Given the description of an element on the screen output the (x, y) to click on. 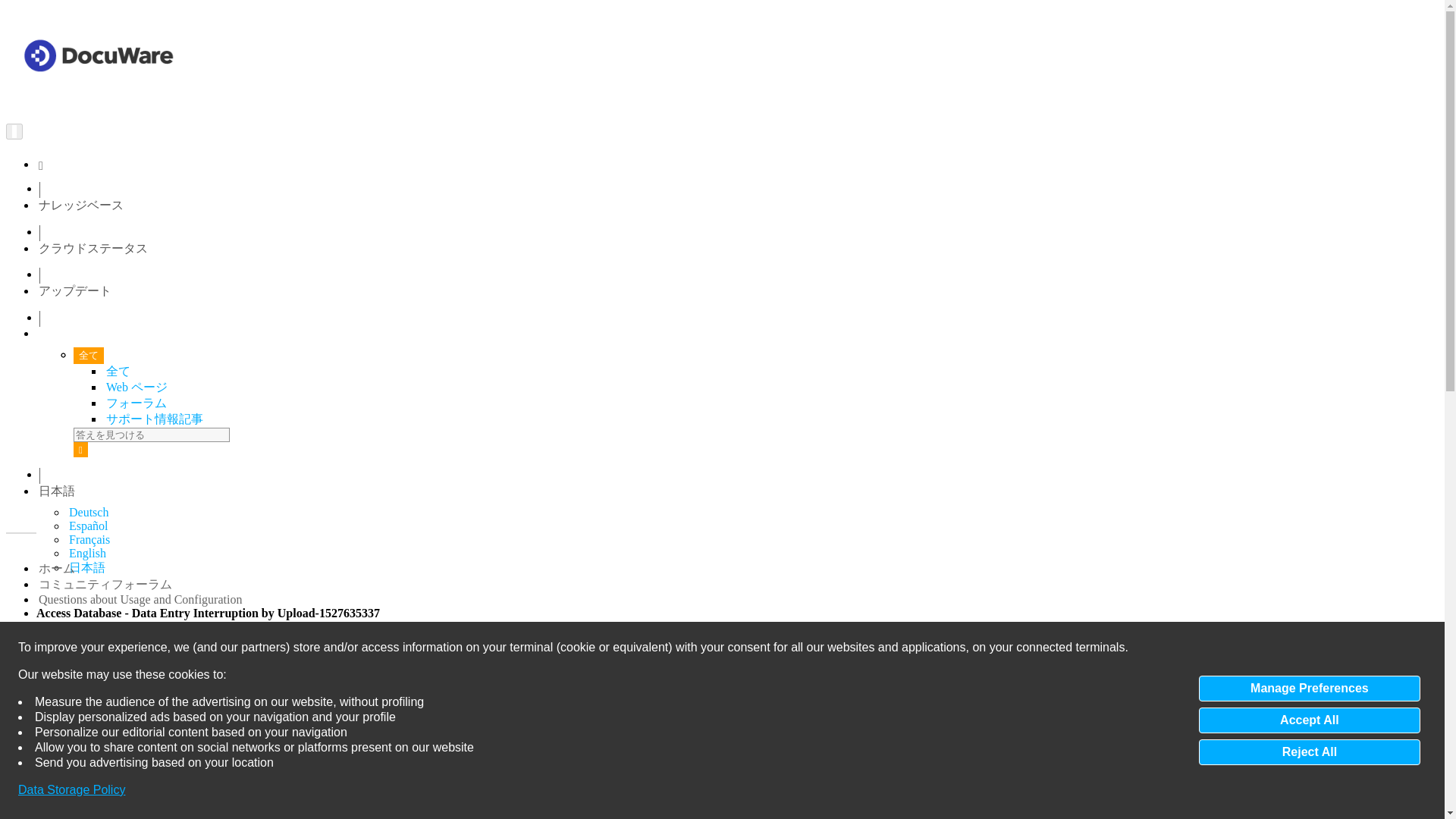
English (87, 553)
Tania Aldred (192, 686)
English (87, 553)
Manage Preferences (1309, 688)
Data Storage Policy (71, 789)
Deutsch (87, 512)
Questions about Usage and Configuration (140, 599)
Reject All (1309, 751)
Toggle navigation (14, 130)
Phil Robson (190, 781)
Accept All (1309, 720)
Deutsch (87, 512)
Tania Aldred (192, 686)
Phil Robson (190, 781)
